Given the description of an element on the screen output the (x, y) to click on. 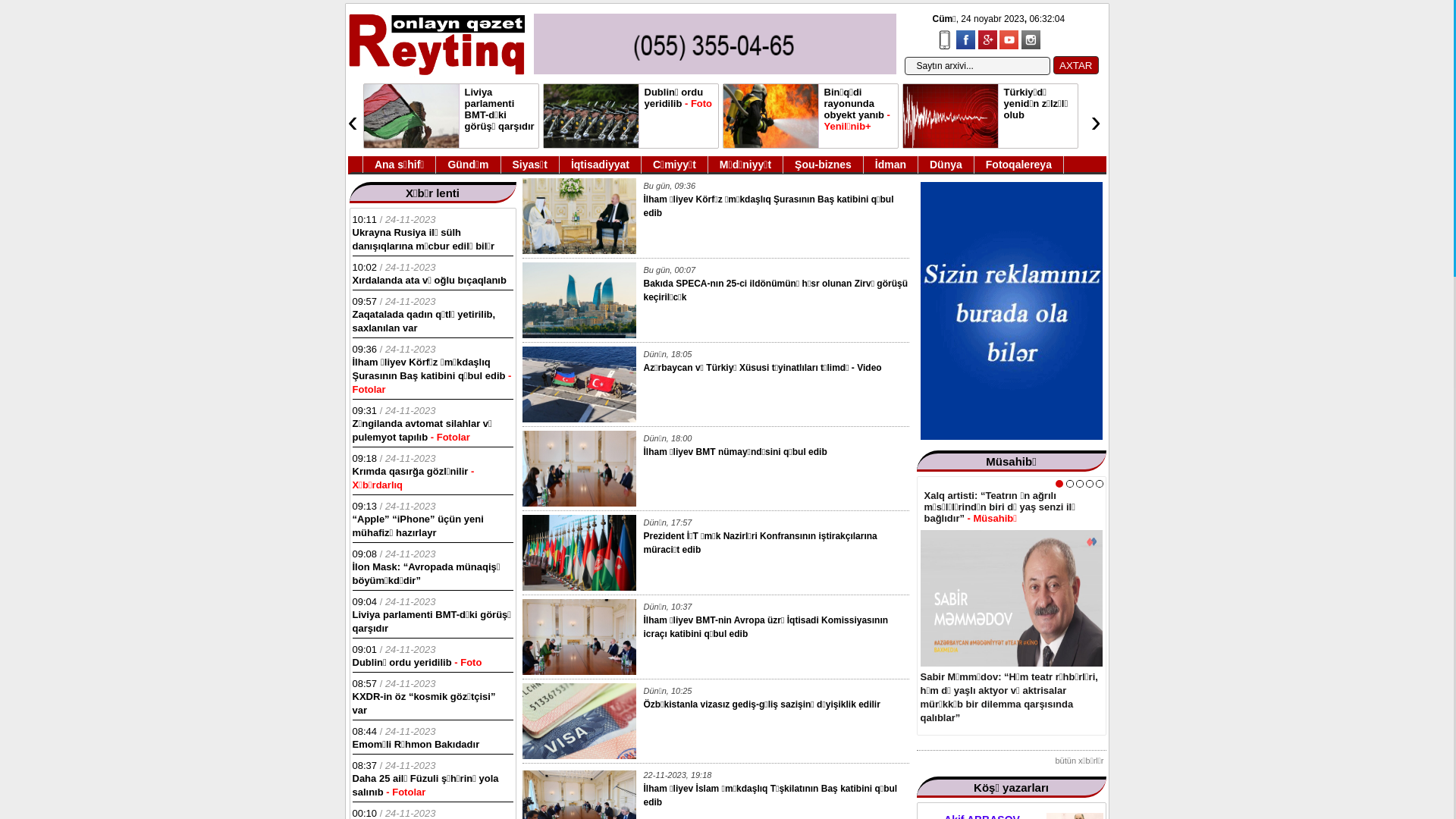
. Element type: text (1059, 483)
. Element type: text (1069, 483)
AXTAR Element type: text (1075, 65)
. Element type: text (1099, 483)
. Element type: text (1079, 483)
. Element type: text (1088, 483)
Fotoqalereya Element type: text (1018, 164)
